Given the description of an element on the screen output the (x, y) to click on. 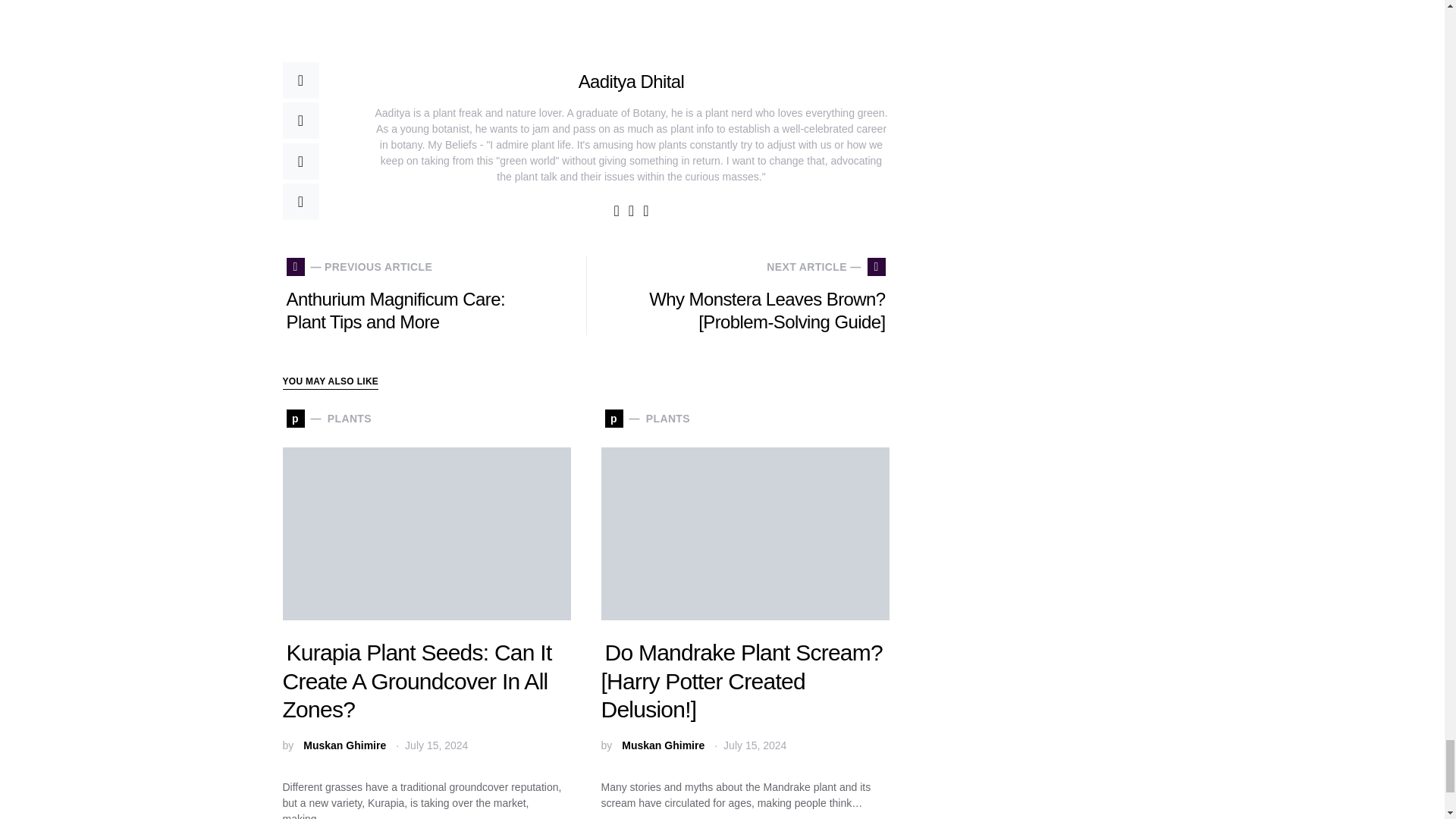
Gravatar for Aaditya Dhital (630, 29)
View all posts by Muskan Ghimire (662, 745)
View all posts by Muskan Ghimire (344, 745)
